Given the description of an element on the screen output the (x, y) to click on. 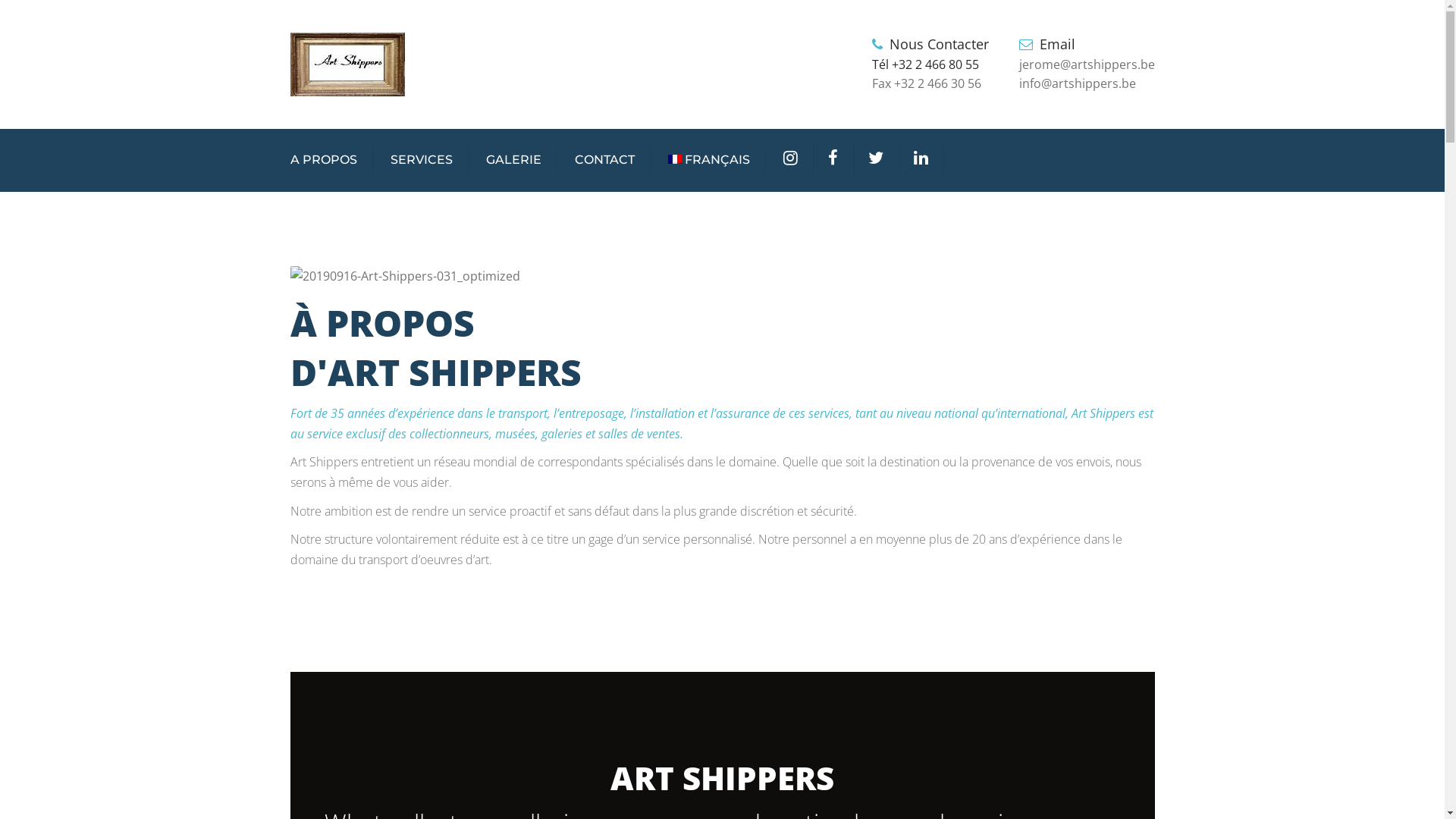
A PROPOS Element type: text (323, 160)
20190916-Art-Shippers-031_optimized Element type: hover (404, 275)
GALERIE Element type: text (512, 160)
CONTACT Element type: text (604, 160)
SERVICES Element type: text (420, 160)
